Given the description of an element on the screen output the (x, y) to click on. 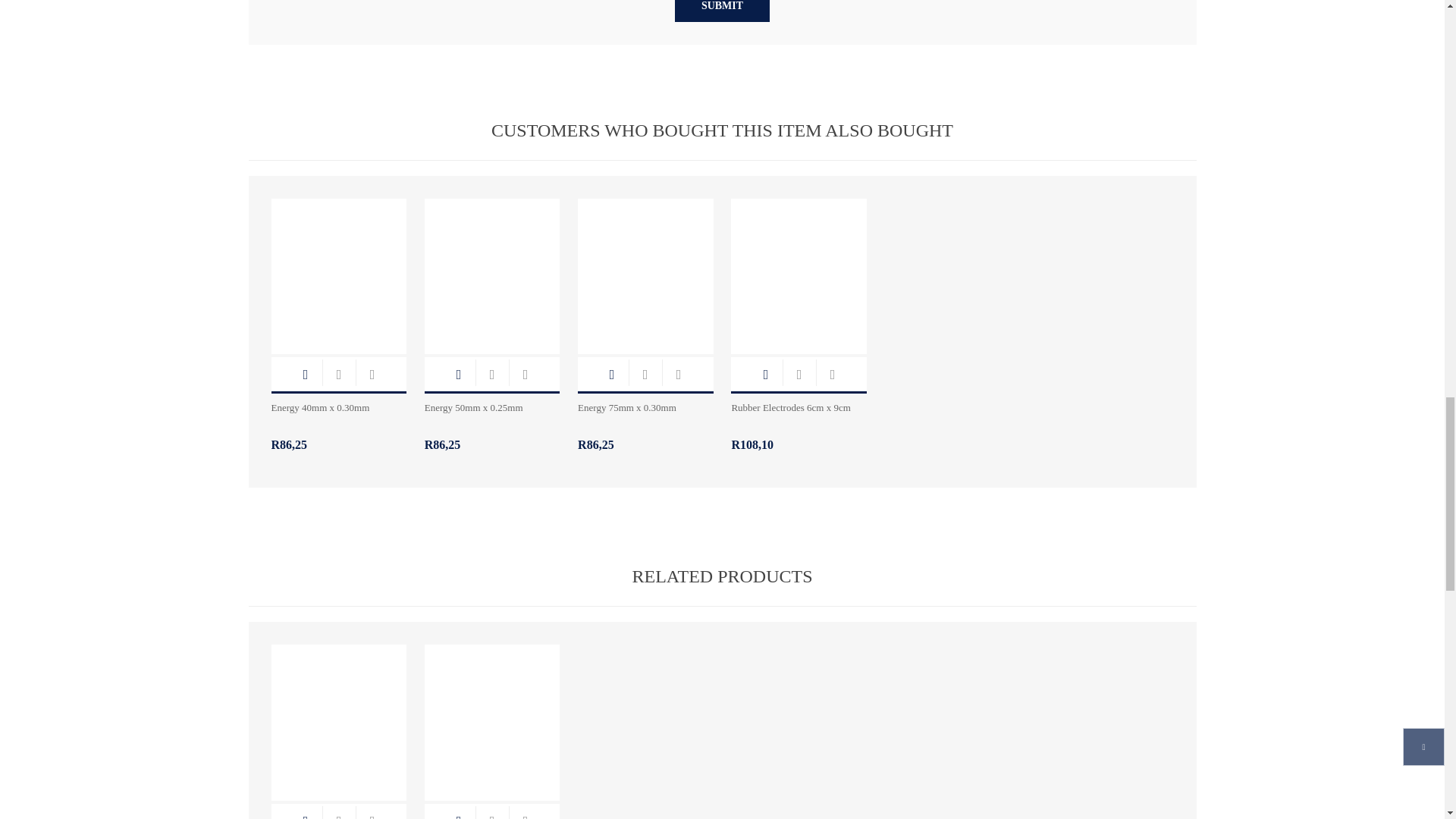
Add to compare list (492, 374)
Add to wishlist (524, 374)
Add to wishlist (371, 374)
Energy Acupuncture needles (492, 269)
Energy Acupuncture needles (338, 269)
Add to compare list (338, 374)
